Given the description of an element on the screen output the (x, y) to click on. 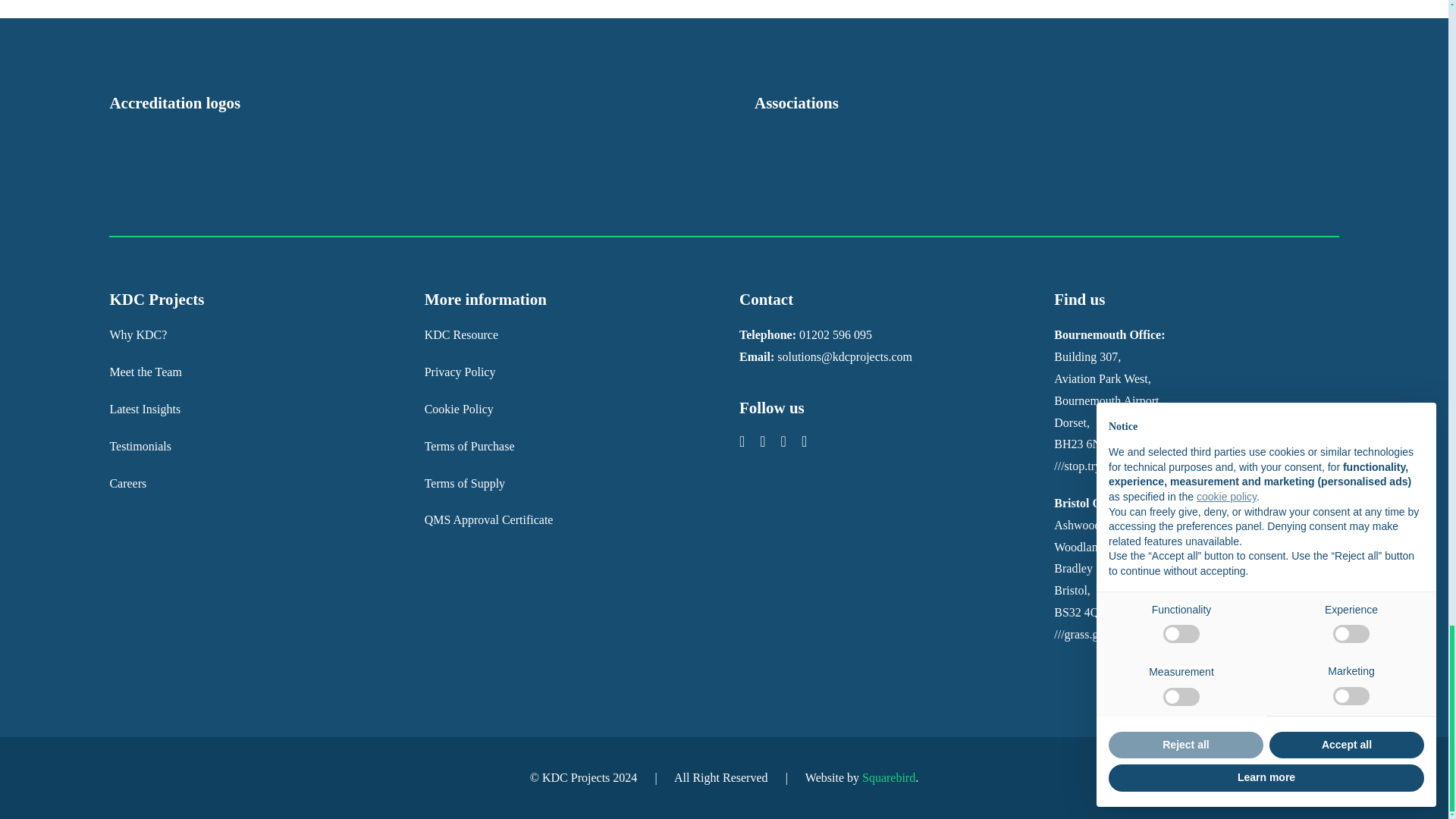
Privacy Policy (460, 371)
Privacy Policy  (138, 334)
QMS Approval Certificate (460, 371)
Careers (489, 519)
Latest Insights (128, 482)
01202 596 095 (144, 408)
Terms of Purchase (835, 334)
KDC Resource (470, 445)
Testimonials (461, 334)
Meet the Team (140, 445)
Terms of Supply (144, 371)
Squarebird (465, 482)
Cookie Policy  (888, 777)
